Given the description of an element on the screen output the (x, y) to click on. 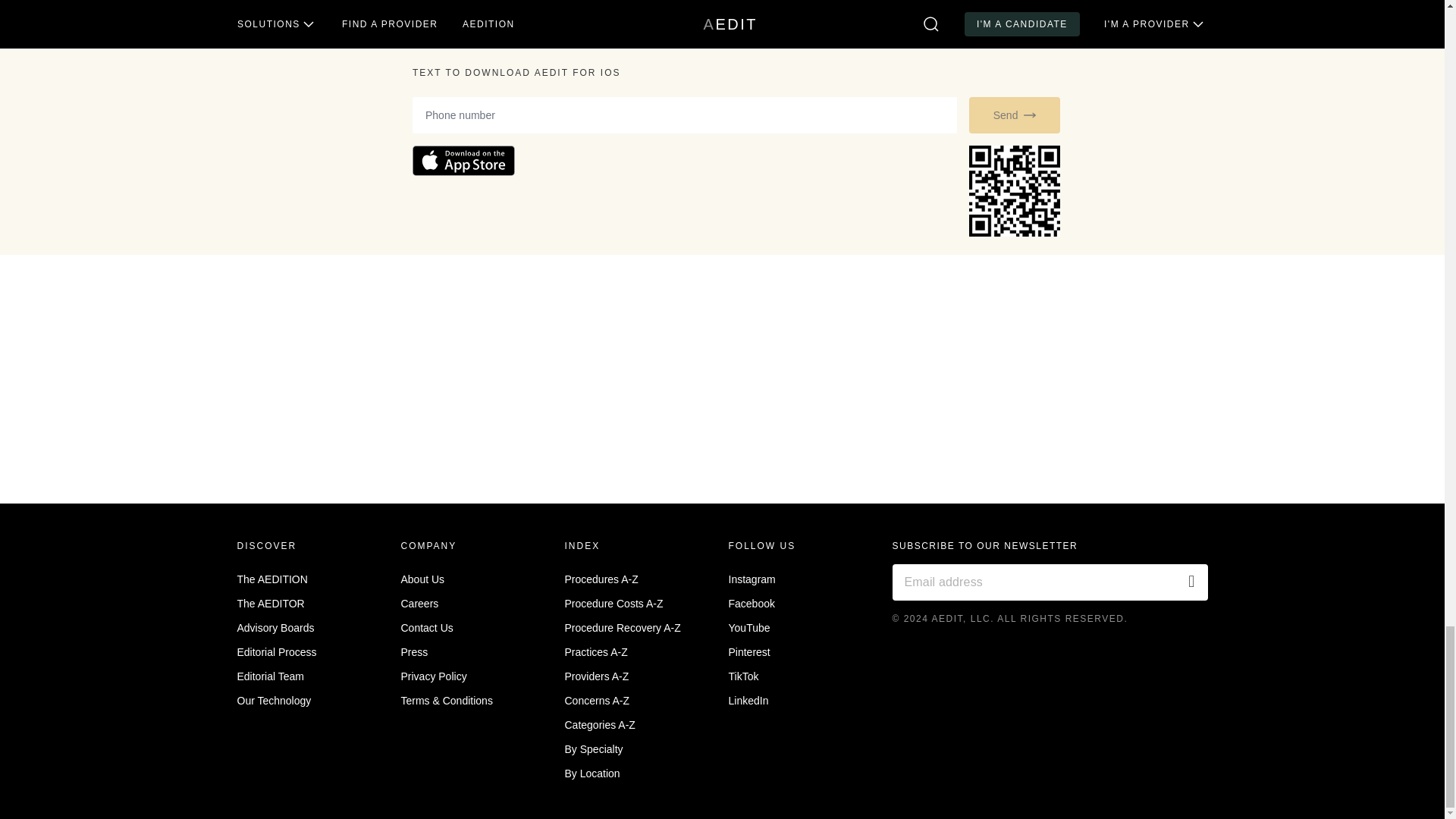
arrow (1029, 114)
